Given the description of an element on the screen output the (x, y) to click on. 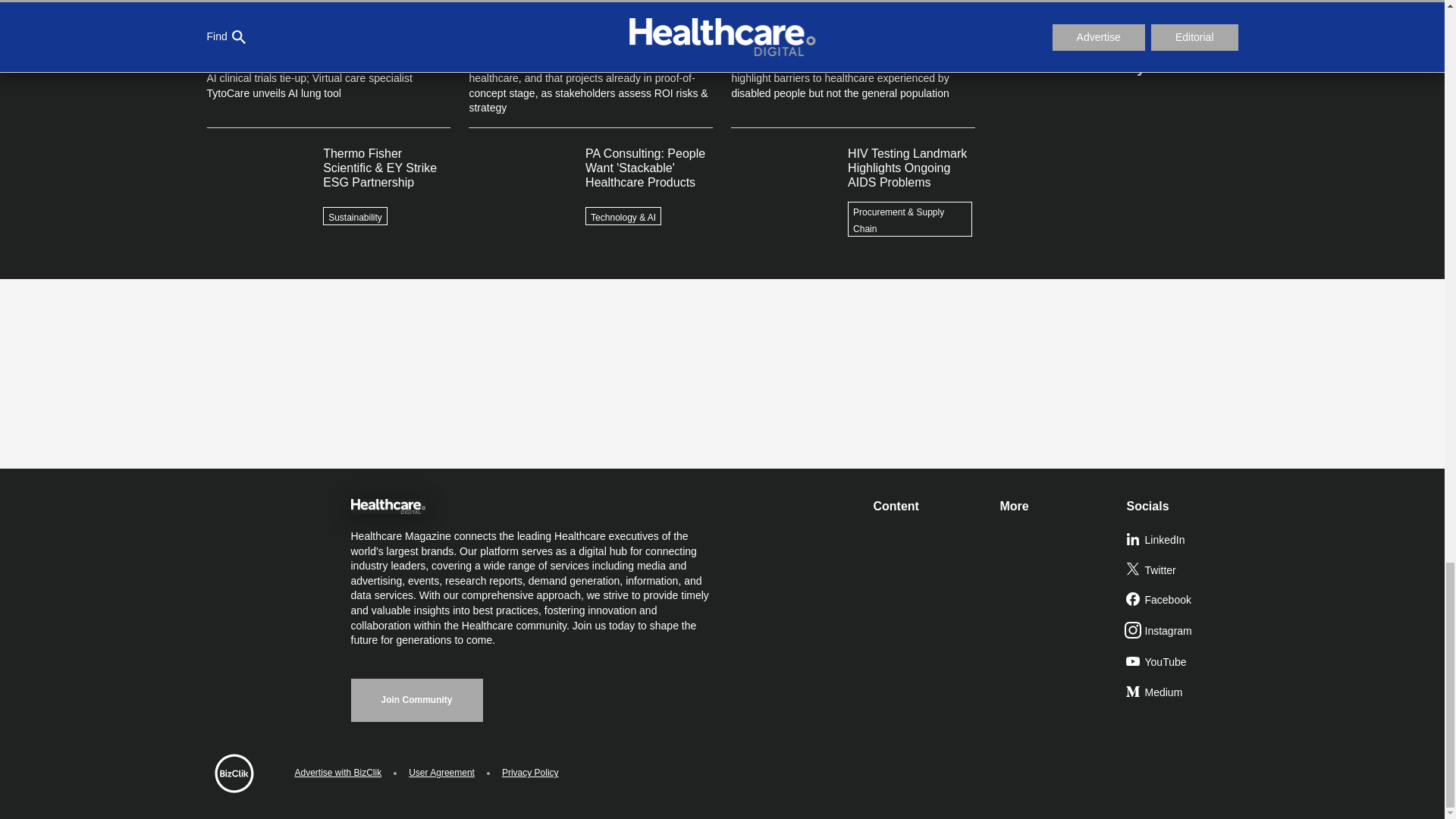
Join Community (415, 699)
Twitter (1182, 571)
YouTube (1182, 662)
Medium (1182, 693)
US Senators Propose law to Tackle Healthcare Cyber Threats (1114, 50)
Advertise with BizClik (337, 772)
Facebook (1182, 600)
User Agreement (441, 772)
LinkedIn (1182, 540)
Abbott Labs' profits soar; Nipro opens First US Facility (1114, 12)
Instagram (1182, 631)
